Given the description of an element on the screen output the (x, y) to click on. 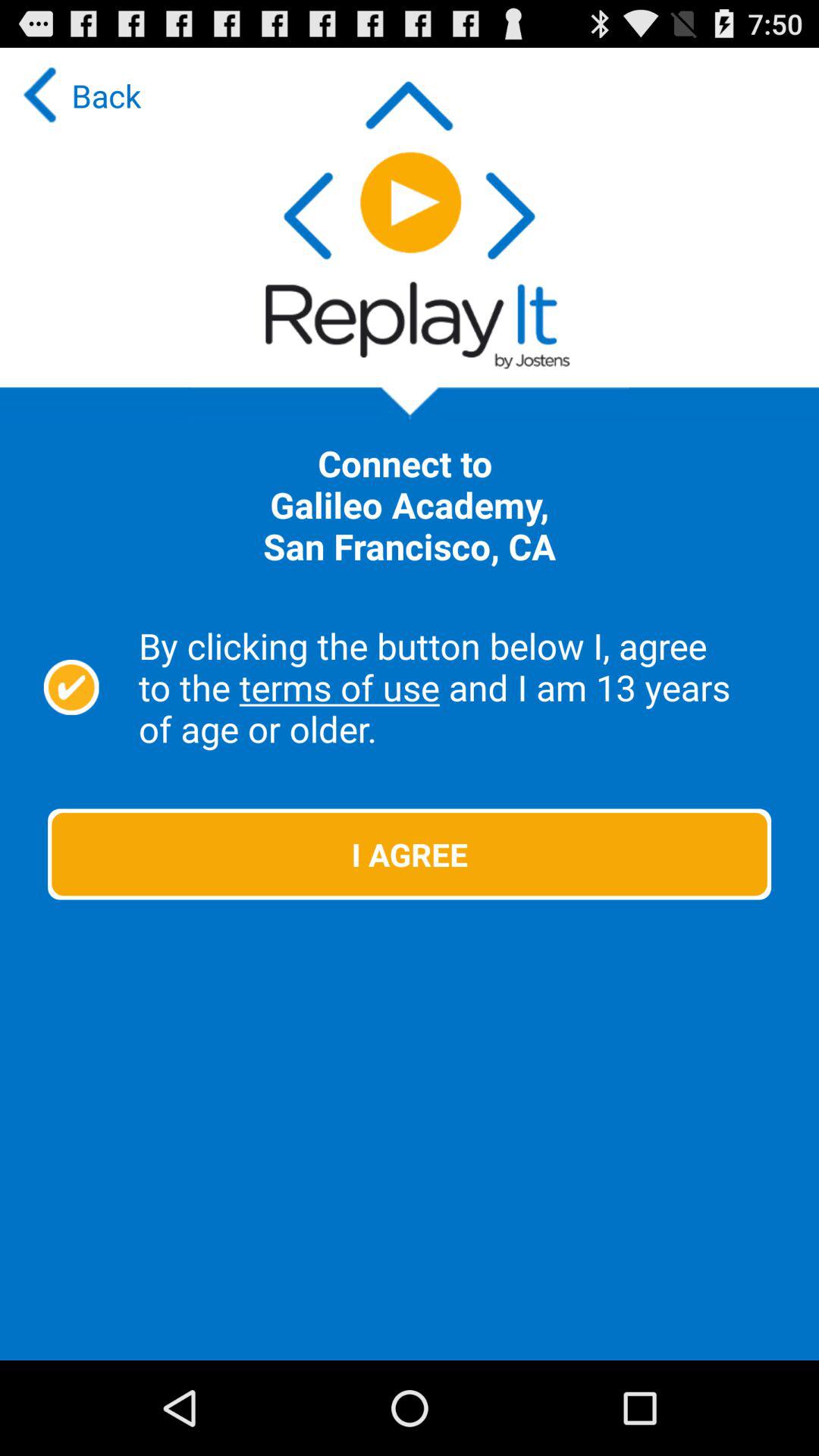
launch the item next to the by clicking the icon (70, 686)
